Given the description of an element on the screen output the (x, y) to click on. 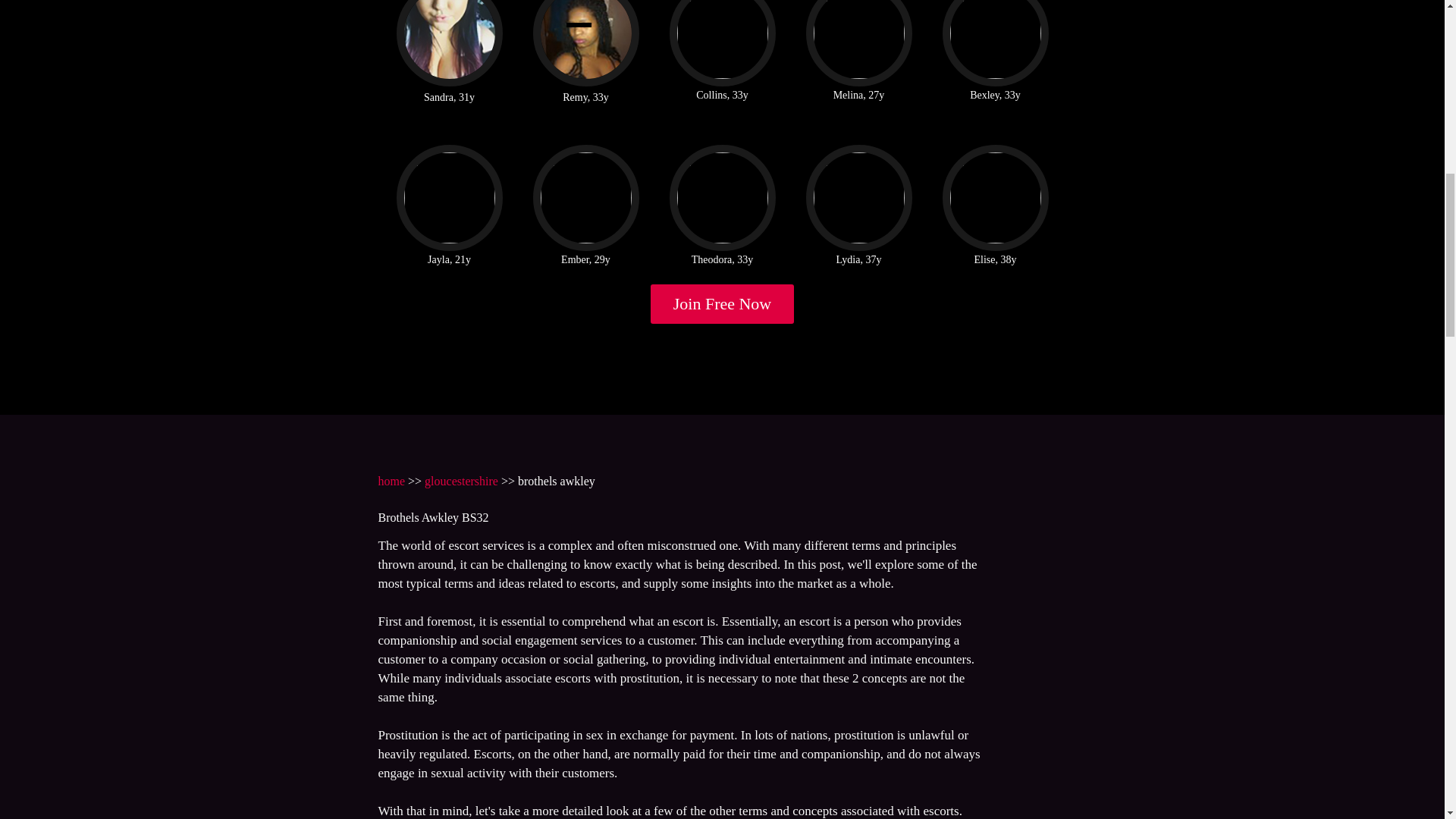
home (390, 481)
Join (722, 303)
Join Free Now (722, 303)
gloucestershire (461, 481)
